Given the description of an element on the screen output the (x, y) to click on. 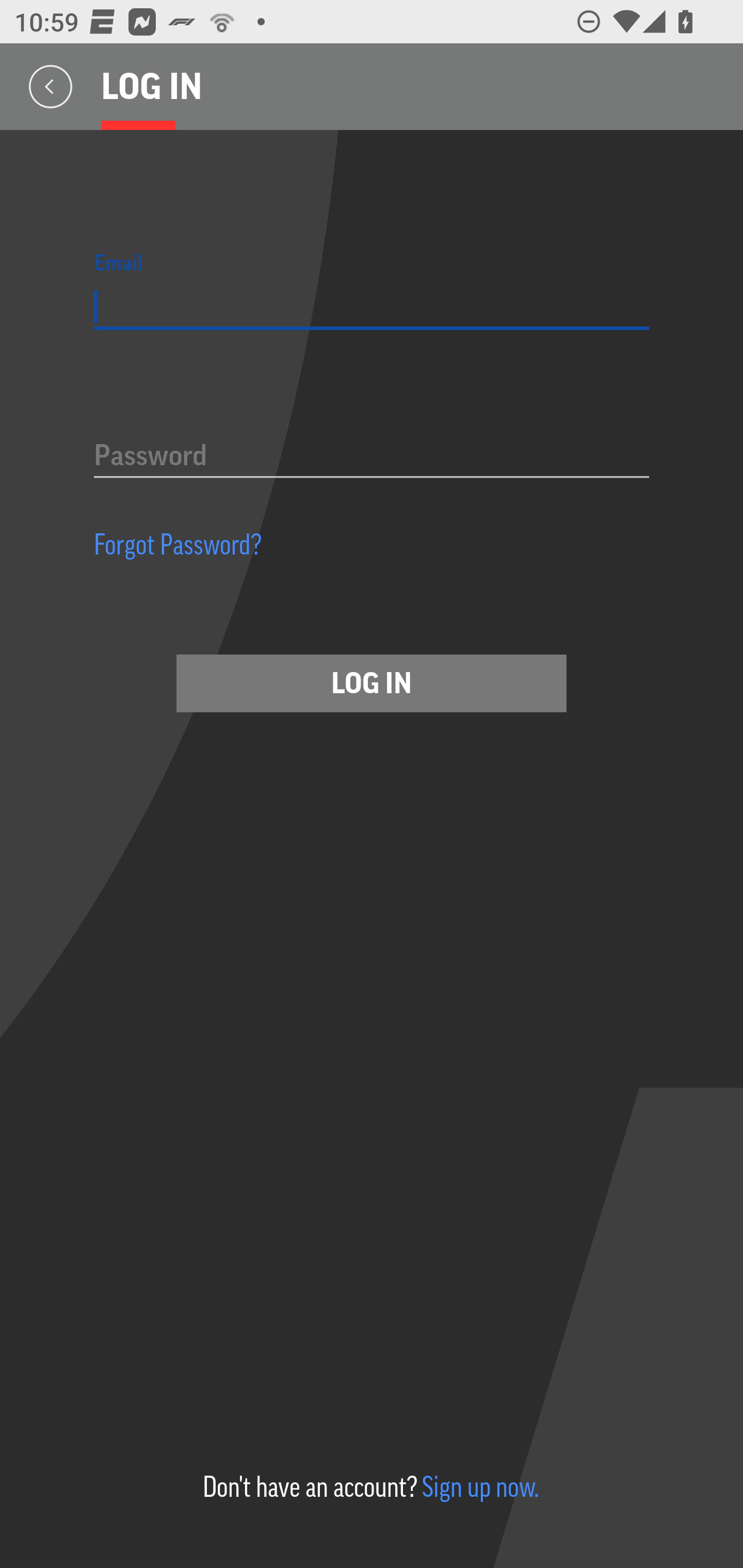
Email (371, 306)
Password (371, 456)
Forgot Password? (177, 543)
LOG IN (371, 682)
Don't have an account? Sign up now. (370, 1485)
